Given the description of an element on the screen output the (x, y) to click on. 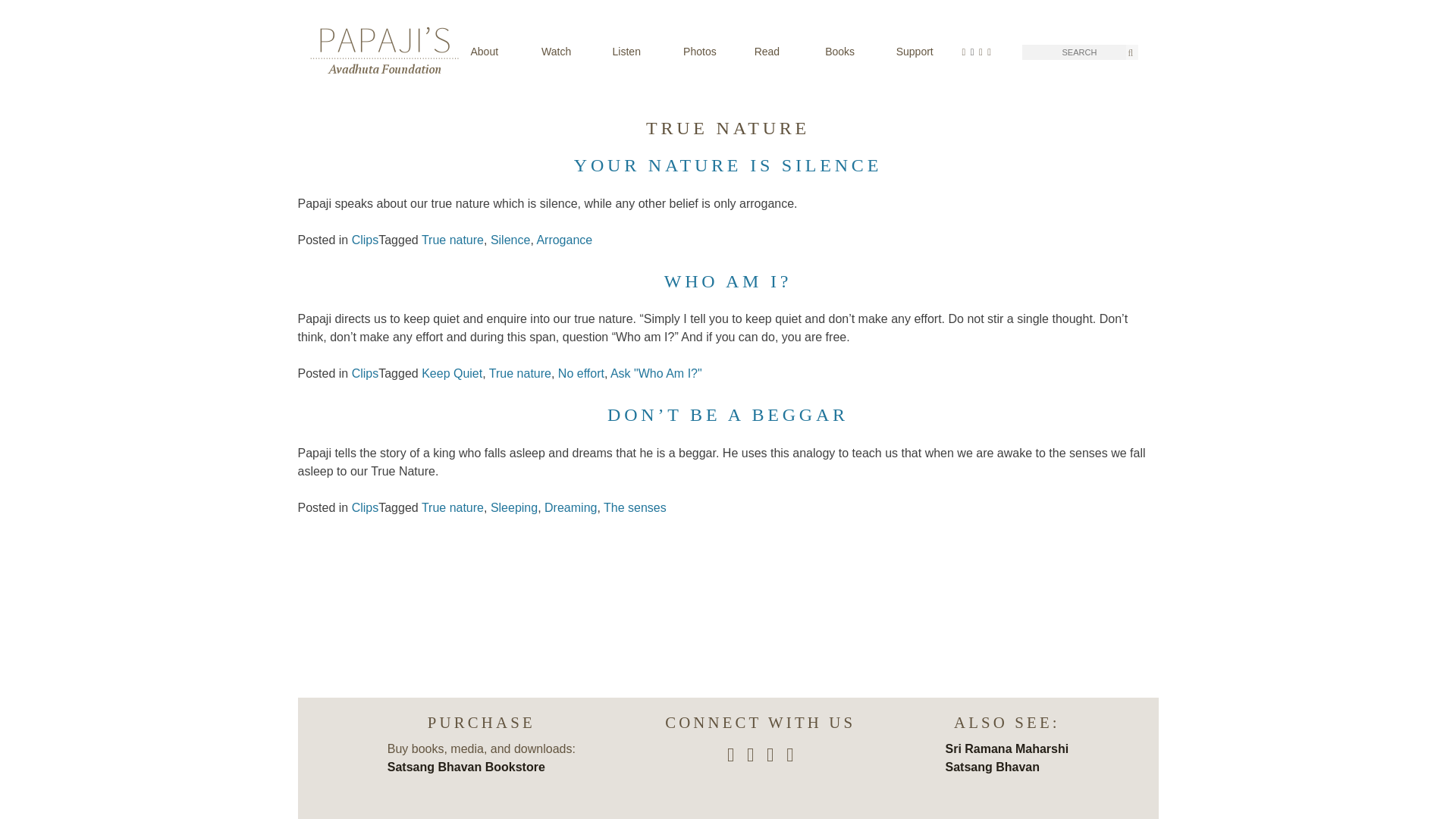
About (497, 51)
Watch (568, 51)
Photos (710, 51)
Read (781, 51)
Listen (640, 51)
About (497, 51)
Watch (568, 51)
